Given the description of an element on the screen output the (x, y) to click on. 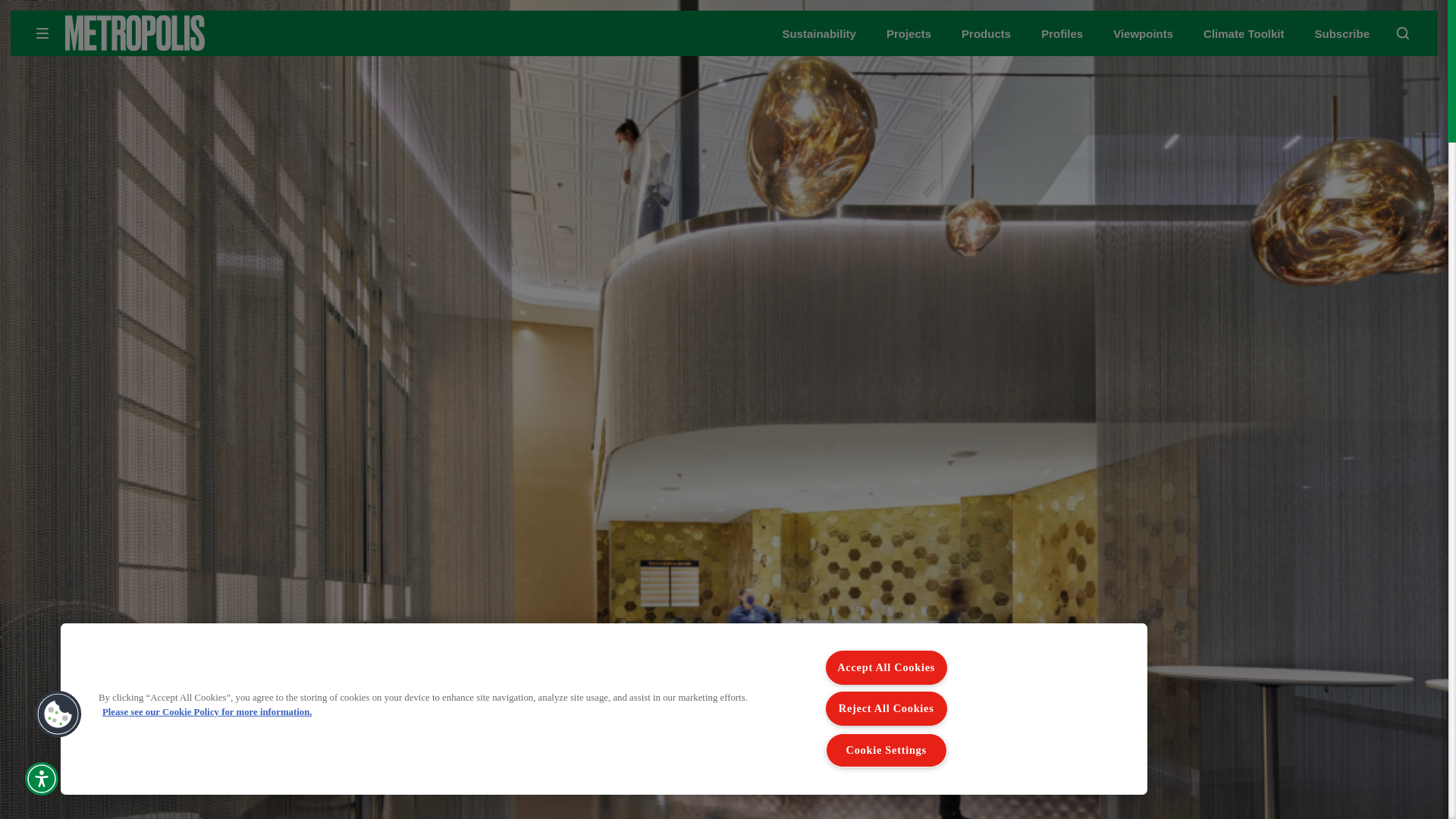
Products (985, 33)
Accessibility Menu (41, 778)
Subscribe (1342, 33)
Projects (908, 33)
METROPOLIS (181, 33)
Cookies Button (57, 714)
Climate Toolkit (1244, 33)
Viewpoints (1143, 33)
Profiles (1062, 33)
Sustainability (818, 33)
